Given the description of an element on the screen output the (x, y) to click on. 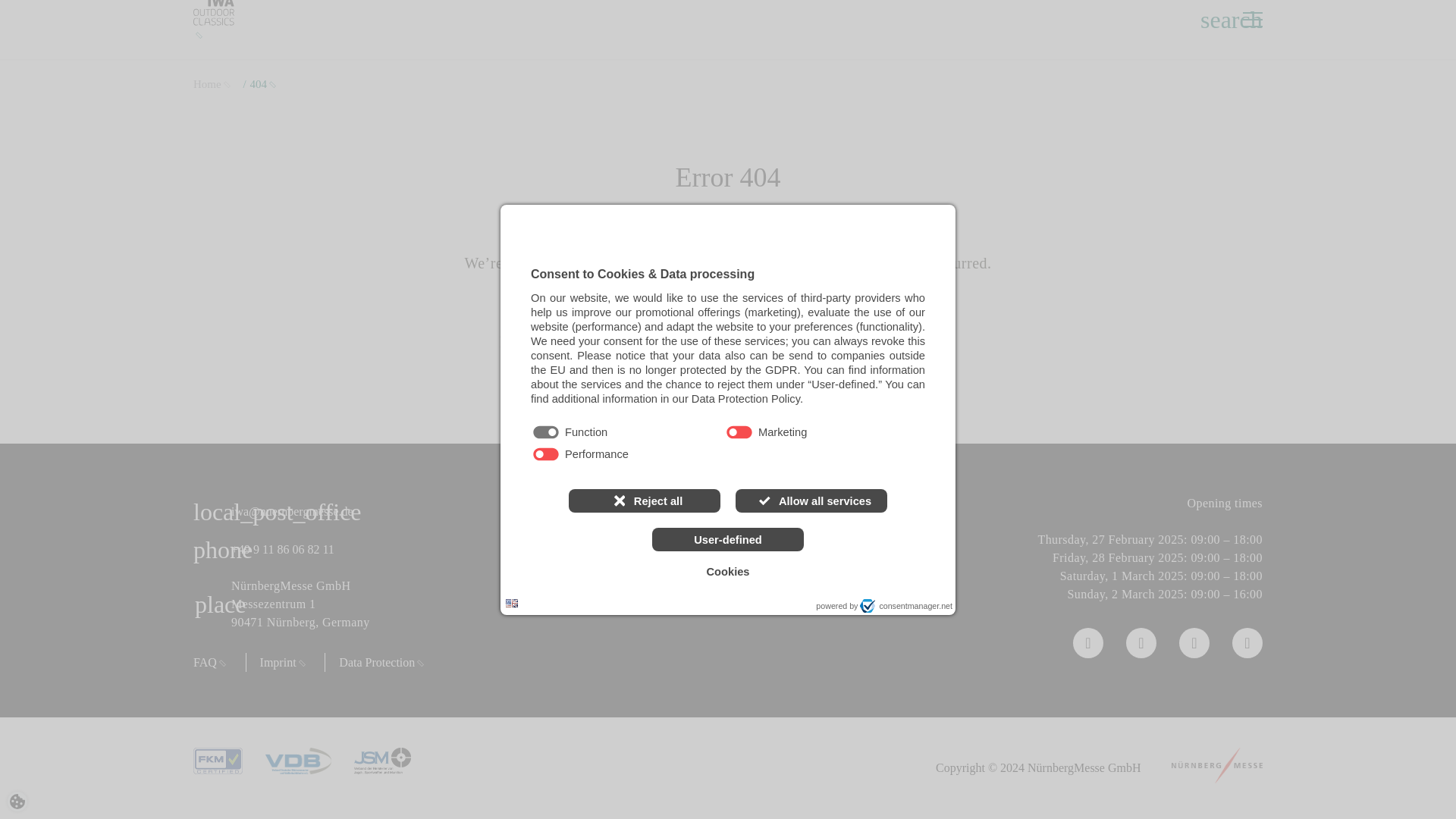
search (1211, 19)
User-defined (727, 484)
Reject all (644, 445)
Cookies (727, 517)
consentmanager.net (906, 550)
Language: en (511, 547)
Allow all services (810, 445)
Language: en (511, 548)
Purpose (727, 388)
